Given the description of an element on the screen output the (x, y) to click on. 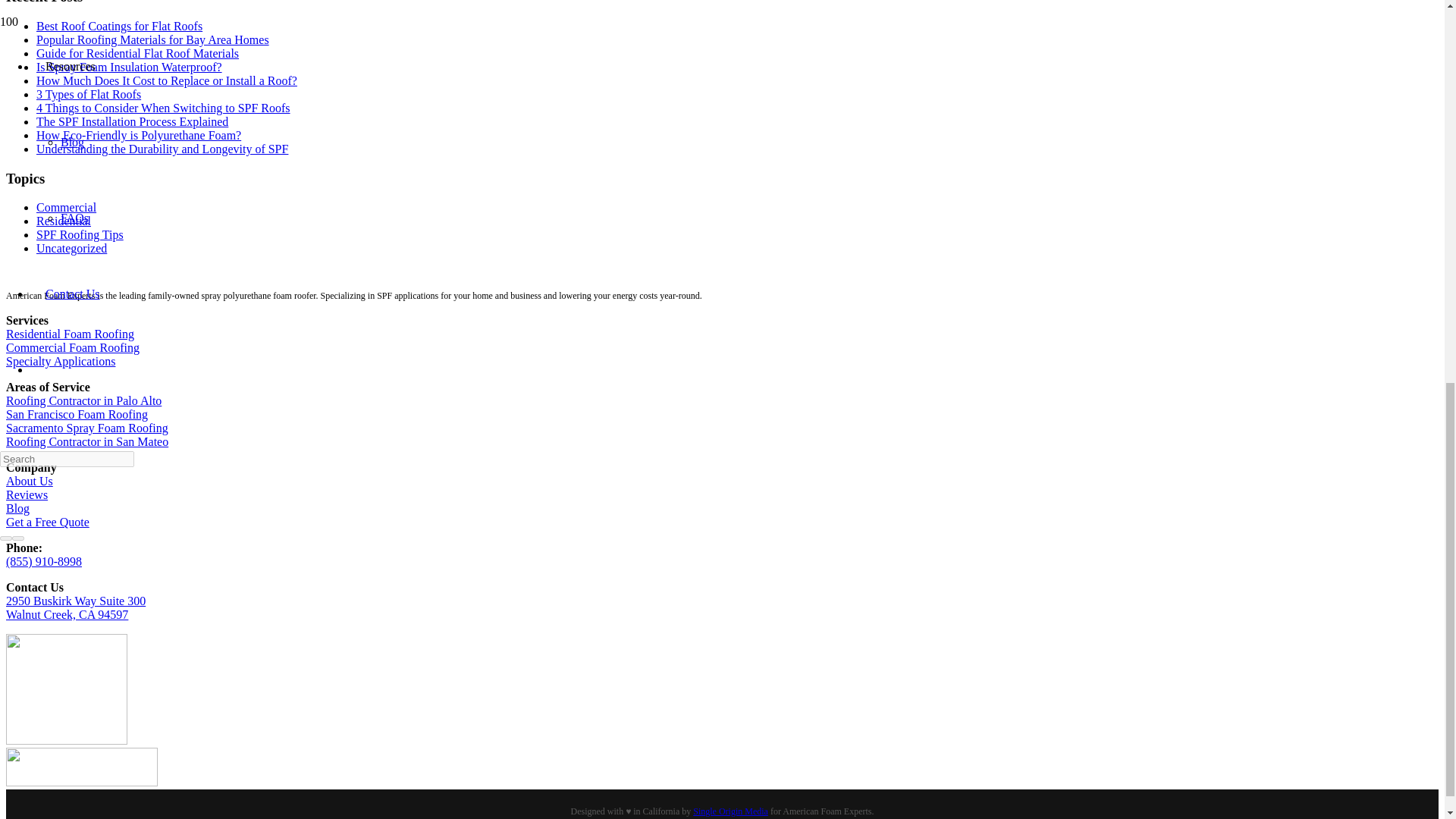
Commercial (66, 206)
Sacramento Spray Foam Roofing (86, 427)
Uncategorized (71, 247)
Popular Roofing Materials for Bay Area Homes (152, 39)
How Much Does It Cost to Replace or Install a Roof? (166, 80)
Guide for Residential Flat Roof Materials (137, 52)
Commercial Foam Roofing (72, 347)
SPF Roofing Tips (79, 234)
4 Things to Consider When Switching to SPF Roofs (162, 107)
Understanding the Durability and Longevity of SPF (162, 148)
3 Types of Flat Roofs (88, 93)
Is Spray Foam Insulation Waterproof? (129, 66)
San Francisco Foam Roofing (76, 413)
Residential Foam Roofing (69, 333)
Best Roof Coatings for Flat Roofs (119, 25)
